Given the description of an element on the screen output the (x, y) to click on. 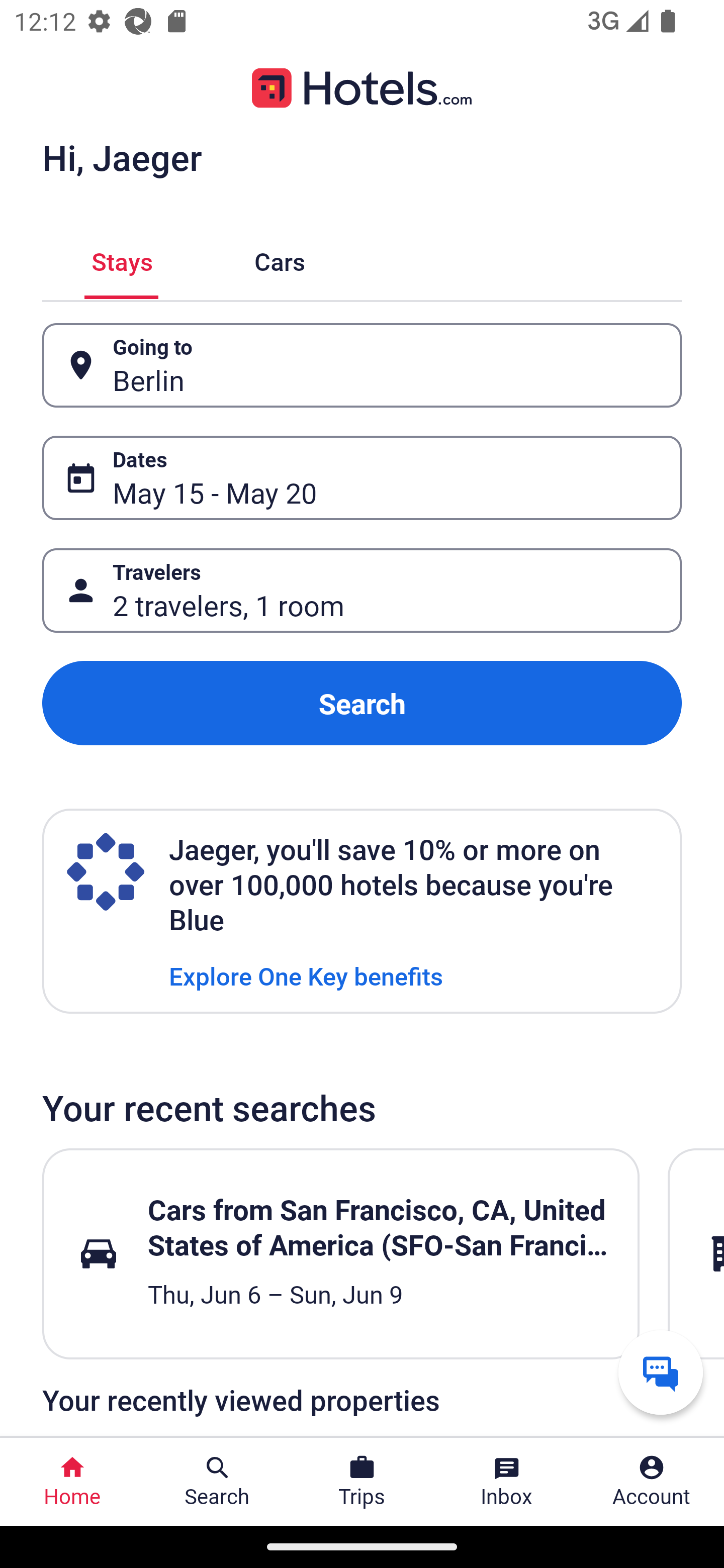
Hi, Jaeger (121, 156)
Cars (279, 259)
Going to Button Berlin (361, 365)
Dates Button May 15 - May 20 (361, 477)
Travelers Button 2 travelers, 1 room (361, 590)
Search (361, 702)
Get help from a virtual agent (660, 1371)
Search Search Button (216, 1481)
Trips Trips Button (361, 1481)
Inbox Inbox Button (506, 1481)
Account Profile. Button (651, 1481)
